Given the description of an element on the screen output the (x, y) to click on. 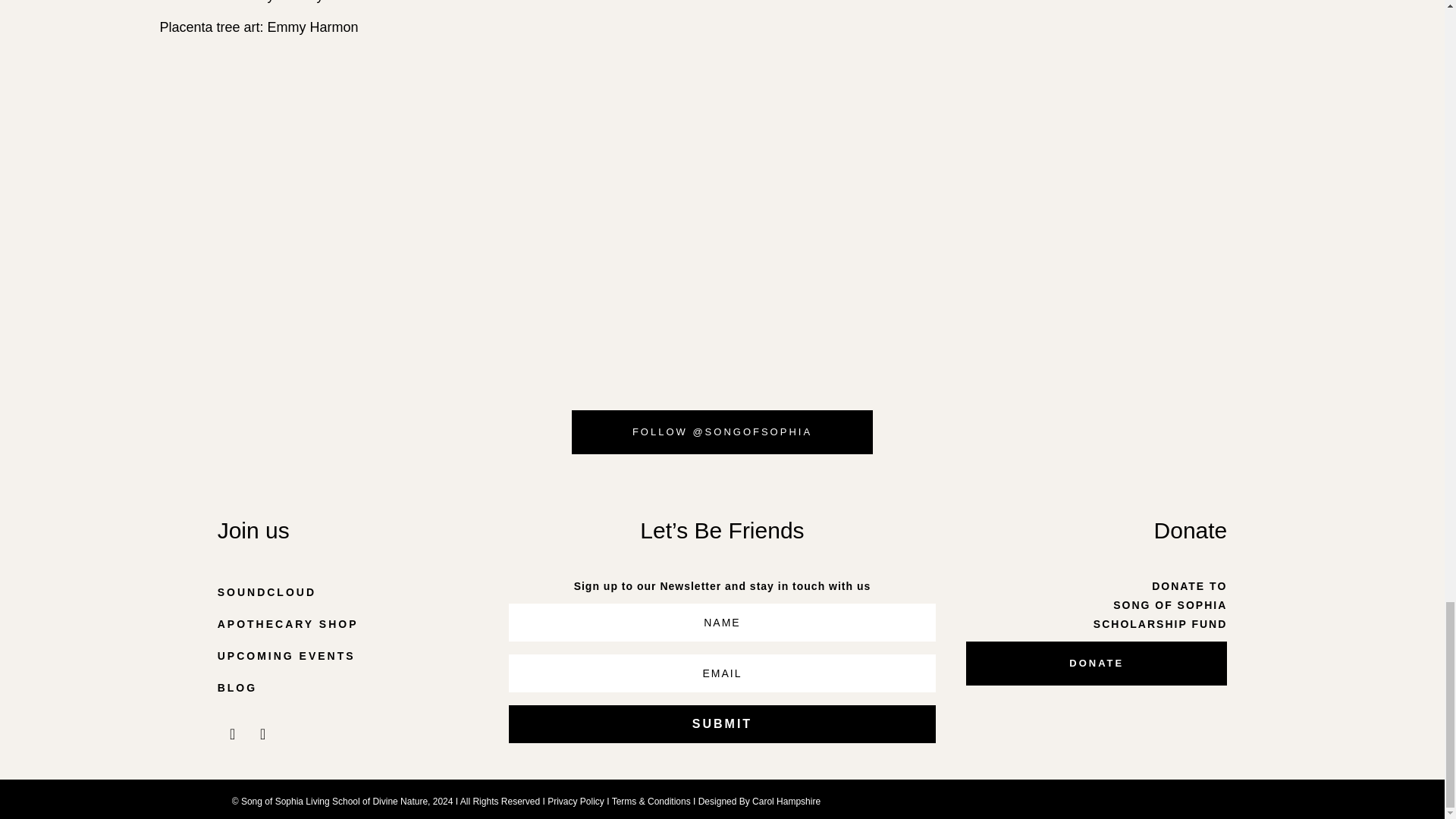
UPCOMING EVENTS (347, 655)
Facebook (262, 734)
SOUNDCLOUD (347, 592)
SUBMIT (722, 723)
Instagram (231, 734)
BLOG (347, 687)
APOTHECARY SHOP (347, 624)
Privacy Policy (575, 801)
DONATE (1096, 663)
